Given the description of an element on the screen output the (x, y) to click on. 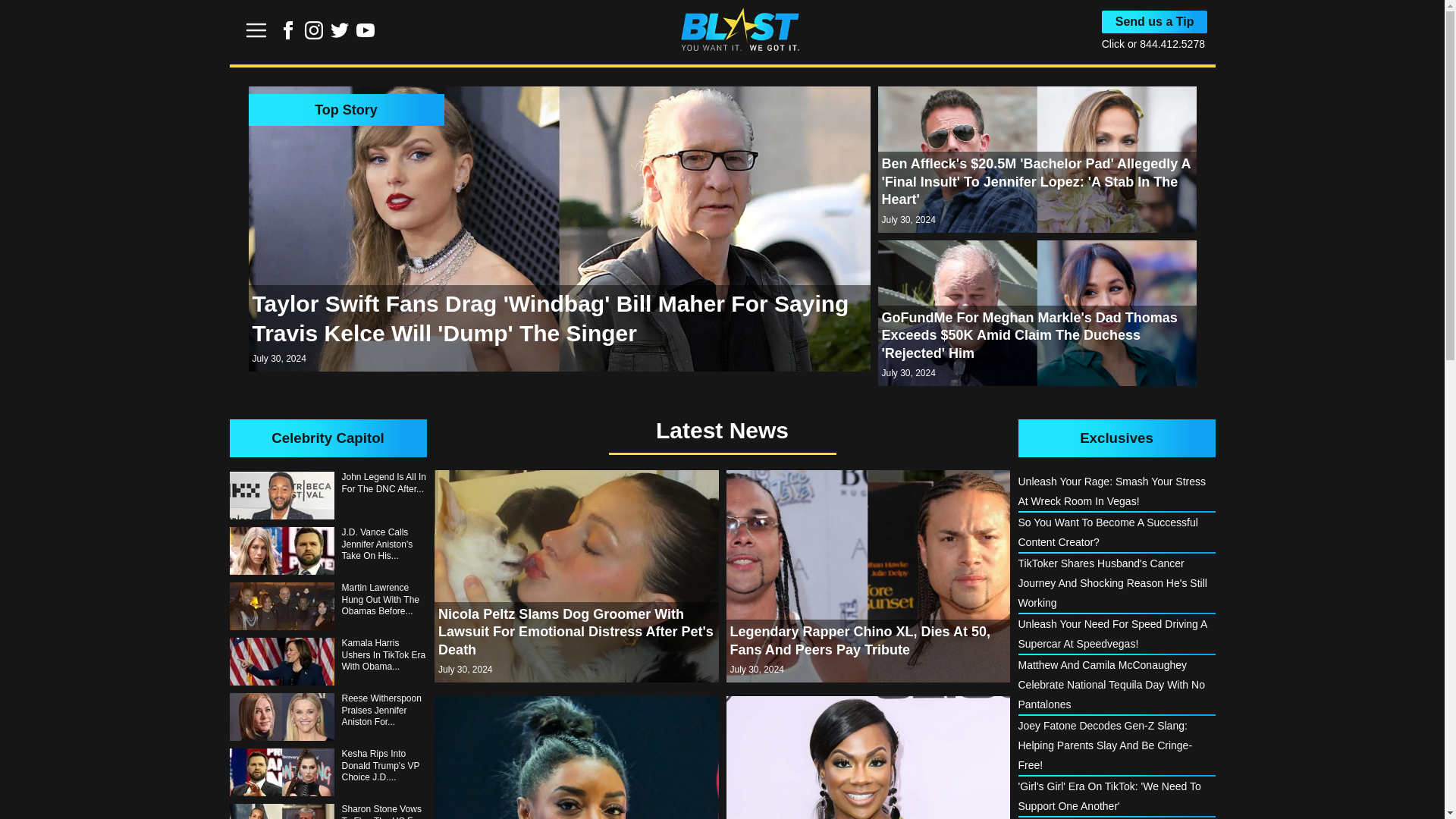
Sharon Stone Vows To Flee The US For Italy If... (327, 811)
Link to Instagram (313, 30)
Link to Youtube (365, 34)
Send us a Tip (1155, 21)
Link to Twitter (339, 30)
Link to Twitter (339, 34)
Click or 844.412.5278 (1153, 43)
Link to Youtube (365, 30)
Reese Witherspoon Praises Jennifer Aniston For... (327, 716)
Kesha Rips Into Donald Trump's VP Choice J.D.... (327, 772)
